Given the description of an element on the screen output the (x, y) to click on. 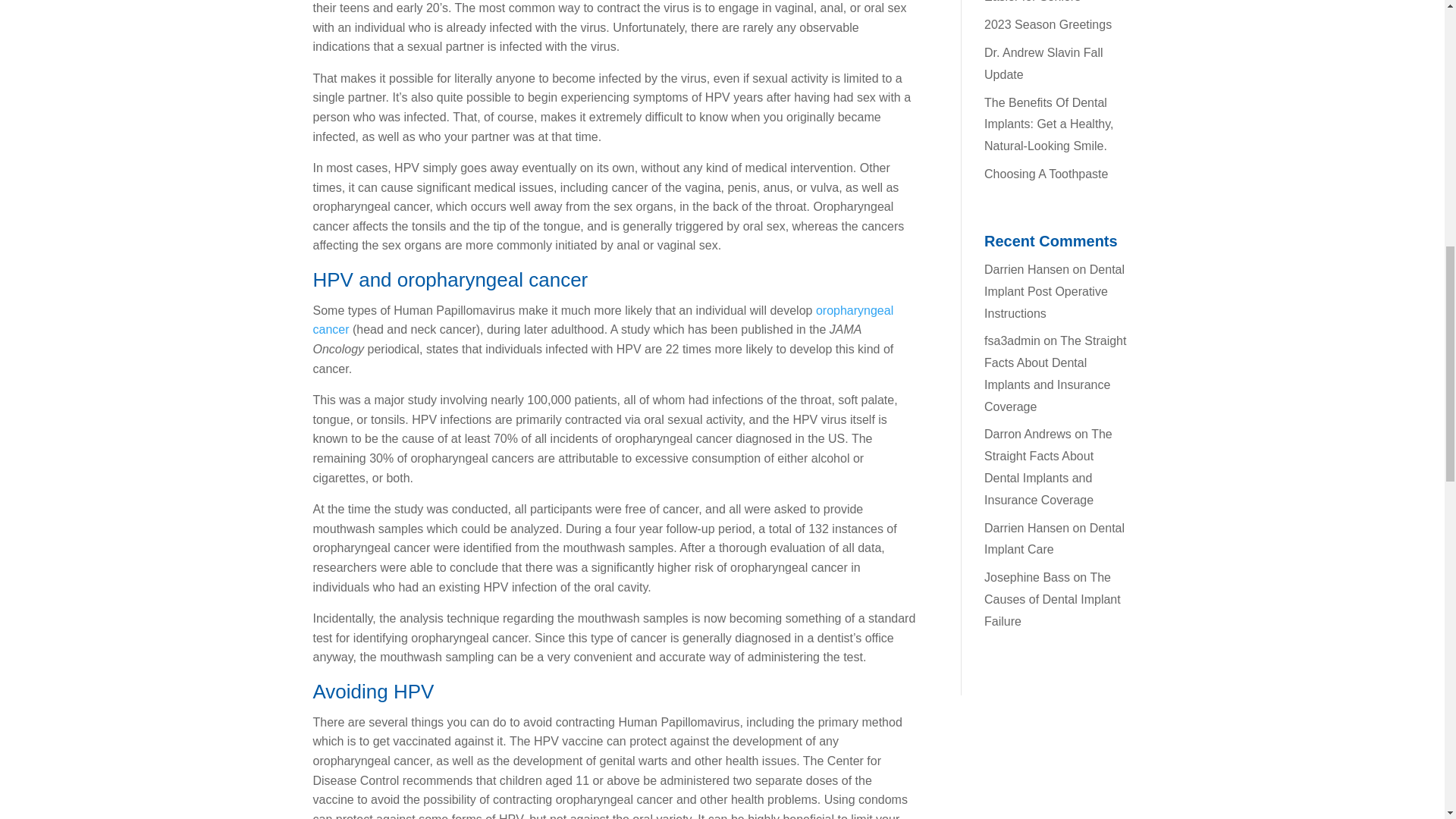
oropharyngeal cancer (603, 319)
